Given the description of an element on the screen output the (x, y) to click on. 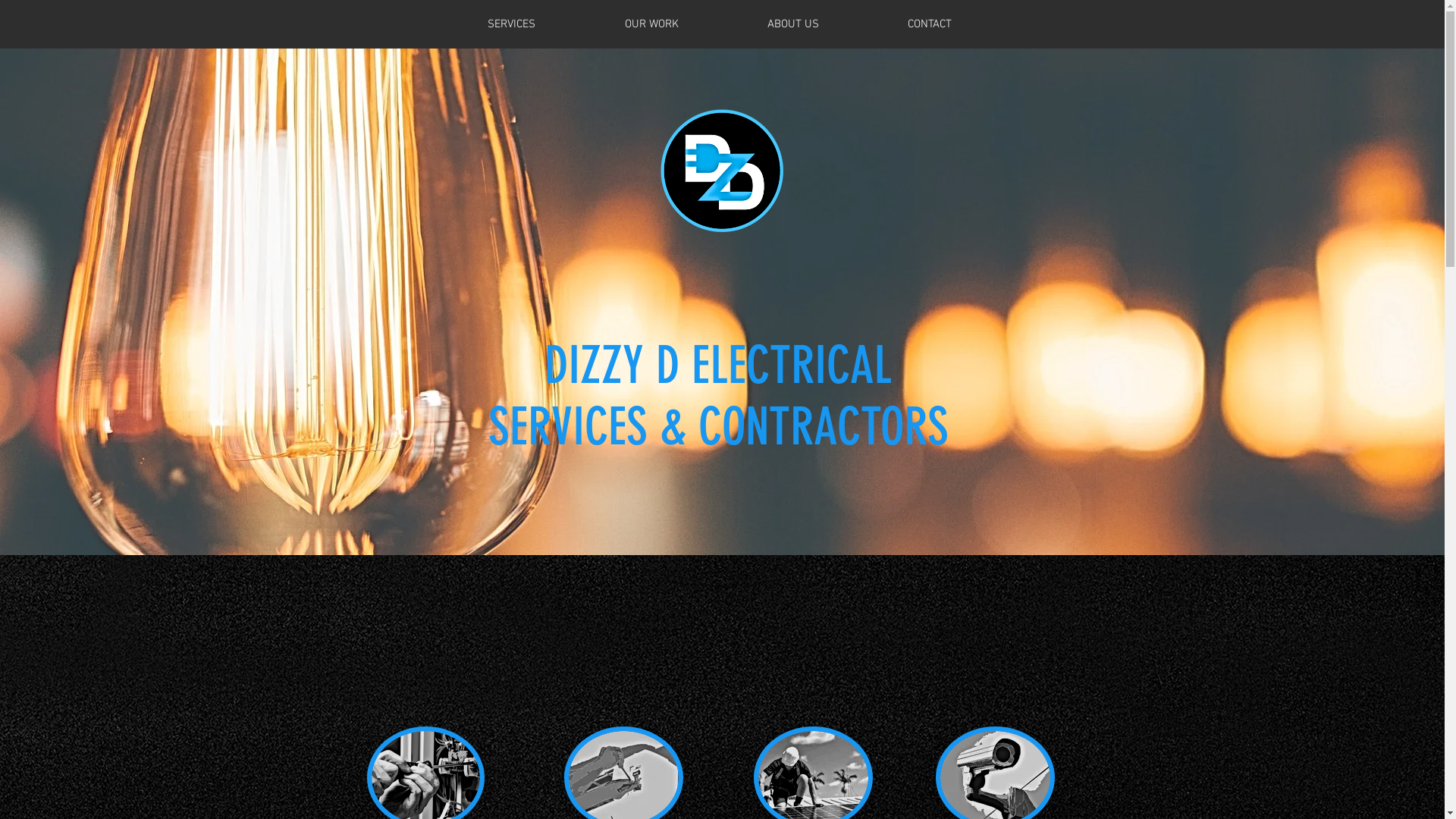
CONTACT Element type: text (928, 24)
SERVICES Element type: text (511, 24)
ABOUT US Element type: text (793, 24)
OUR WORK Element type: text (650, 24)
